Given the description of an element on the screen output the (x, y) to click on. 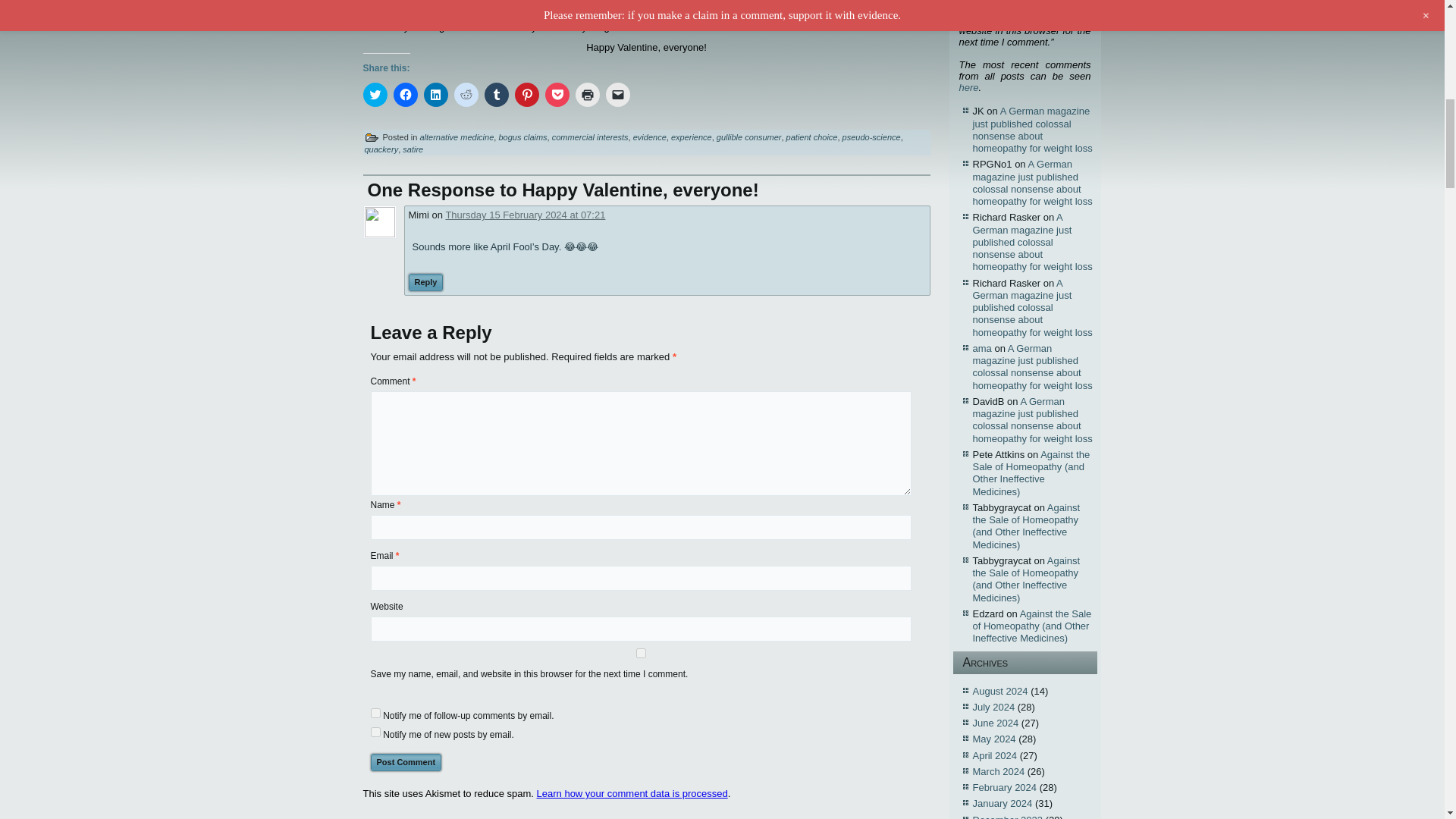
patient choice (812, 136)
perineum sunning (449, 15)
yes (640, 653)
alternative medicine (456, 136)
pseudo-science (872, 136)
evidence (649, 136)
Click to share on Reddit (464, 94)
subscribe (374, 713)
bogus claims (522, 136)
gullible consumer (748, 136)
